Given the description of an element on the screen output the (x, y) to click on. 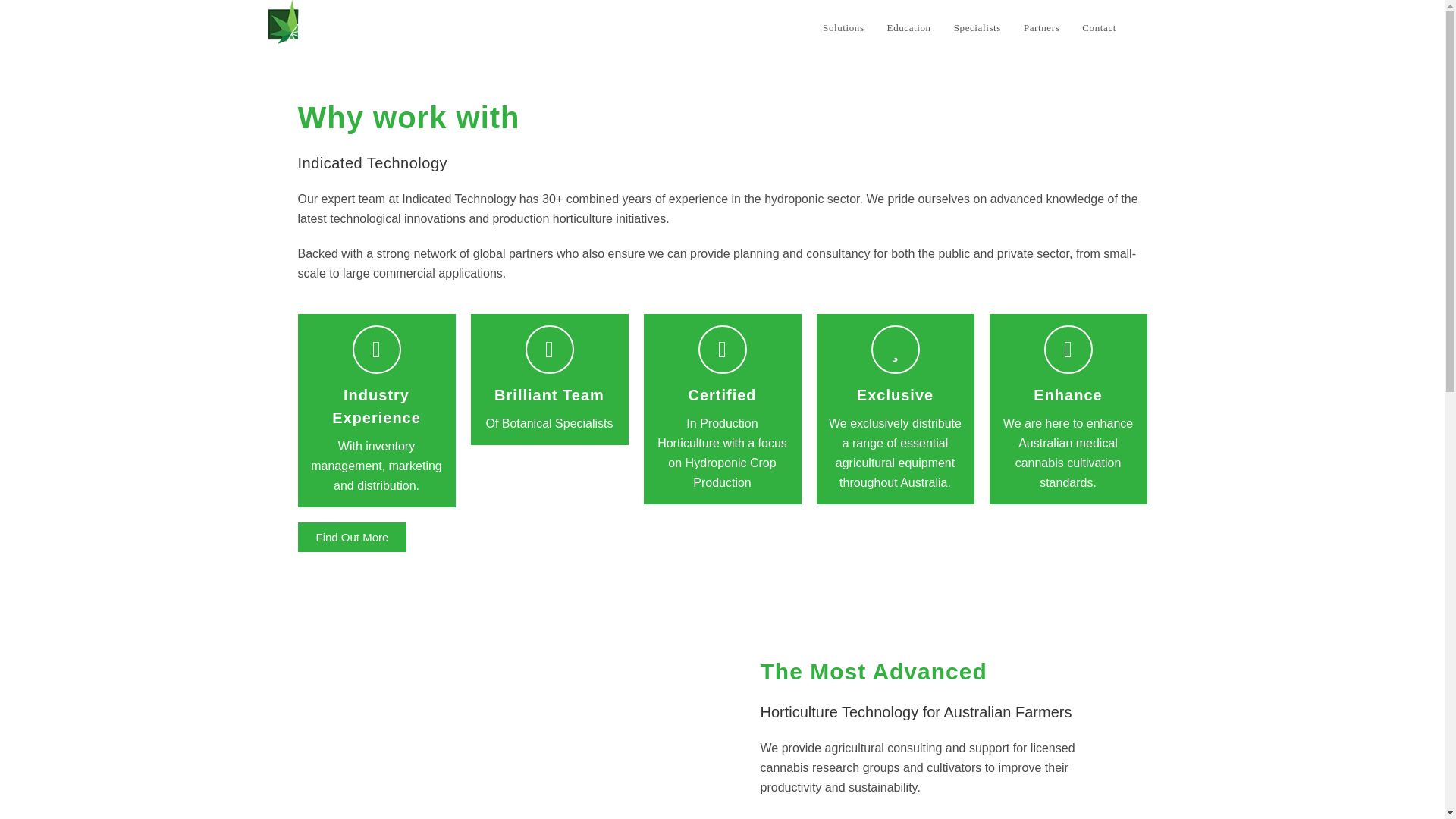
Partners (1040, 28)
Education (909, 28)
Specialists (976, 28)
Find Out More (351, 537)
Contact (1098, 28)
Solutions (843, 28)
